Given the description of an element on the screen output the (x, y) to click on. 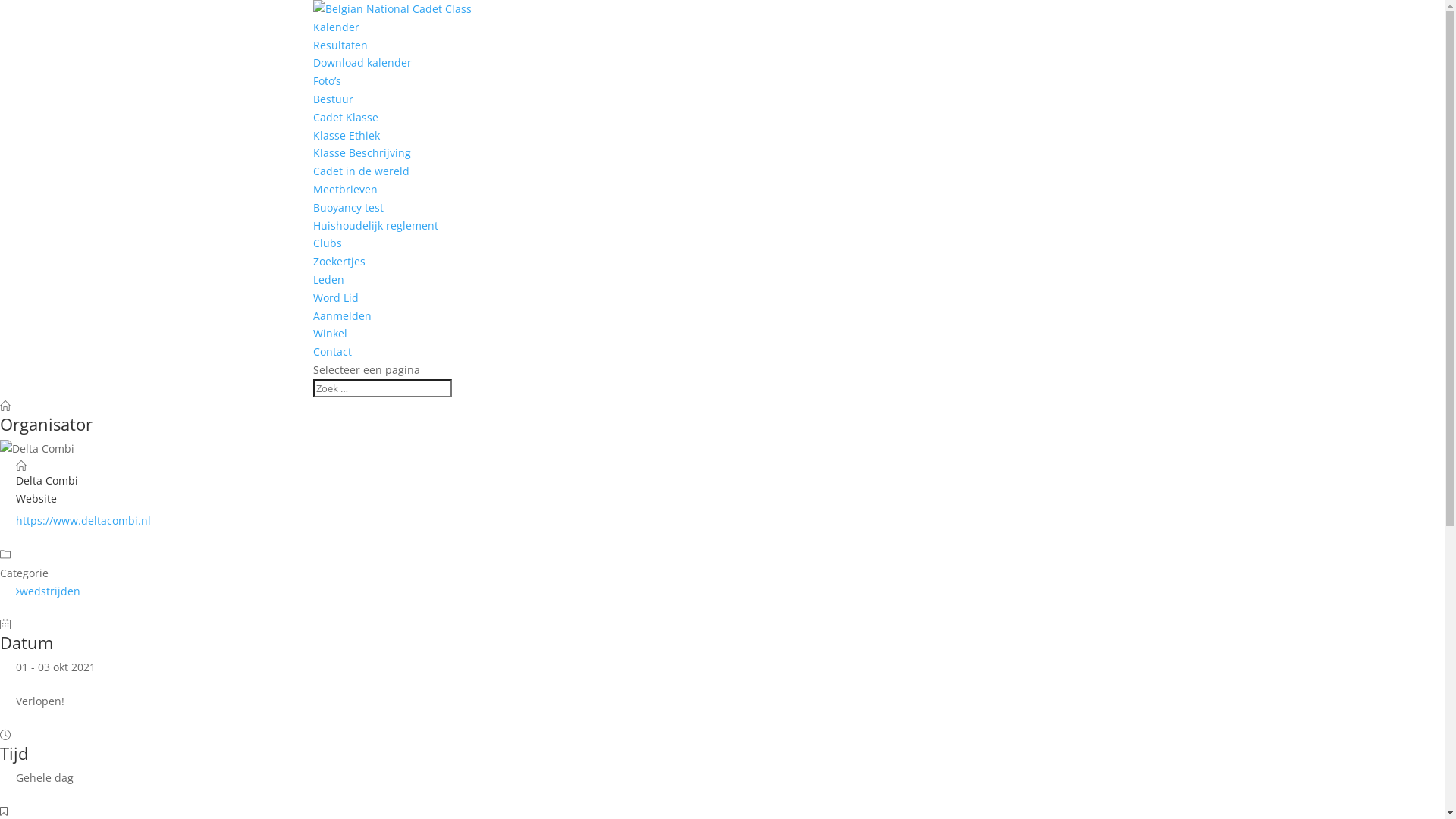
Cadet Klasse Element type: text (344, 116)
Klasse Ethiek Element type: text (345, 135)
wedstrijden Element type: text (47, 590)
https://www.deltacombi.nl Element type: text (82, 520)
Word Lid Element type: text (334, 297)
Zoekertjes Element type: text (338, 261)
Leden Element type: text (327, 279)
Kalender Element type: text (335, 26)
Cadet in de wereld Element type: text (360, 170)
Winkel Element type: text (329, 333)
Buoyancy test Element type: text (347, 207)
Klasse Beschrijving Element type: text (361, 152)
Meetbrieven Element type: text (344, 189)
Zoek naar: Element type: hover (381, 388)
Bestuur Element type: text (332, 98)
Aanmelden Element type: text (341, 315)
Clubs Element type: text (326, 242)
Resultaten Element type: text (339, 44)
Huishoudelijk reglement Element type: text (374, 225)
Contact Element type: text (331, 351)
Download kalender Element type: text (361, 62)
